Given the description of an element on the screen output the (x, y) to click on. 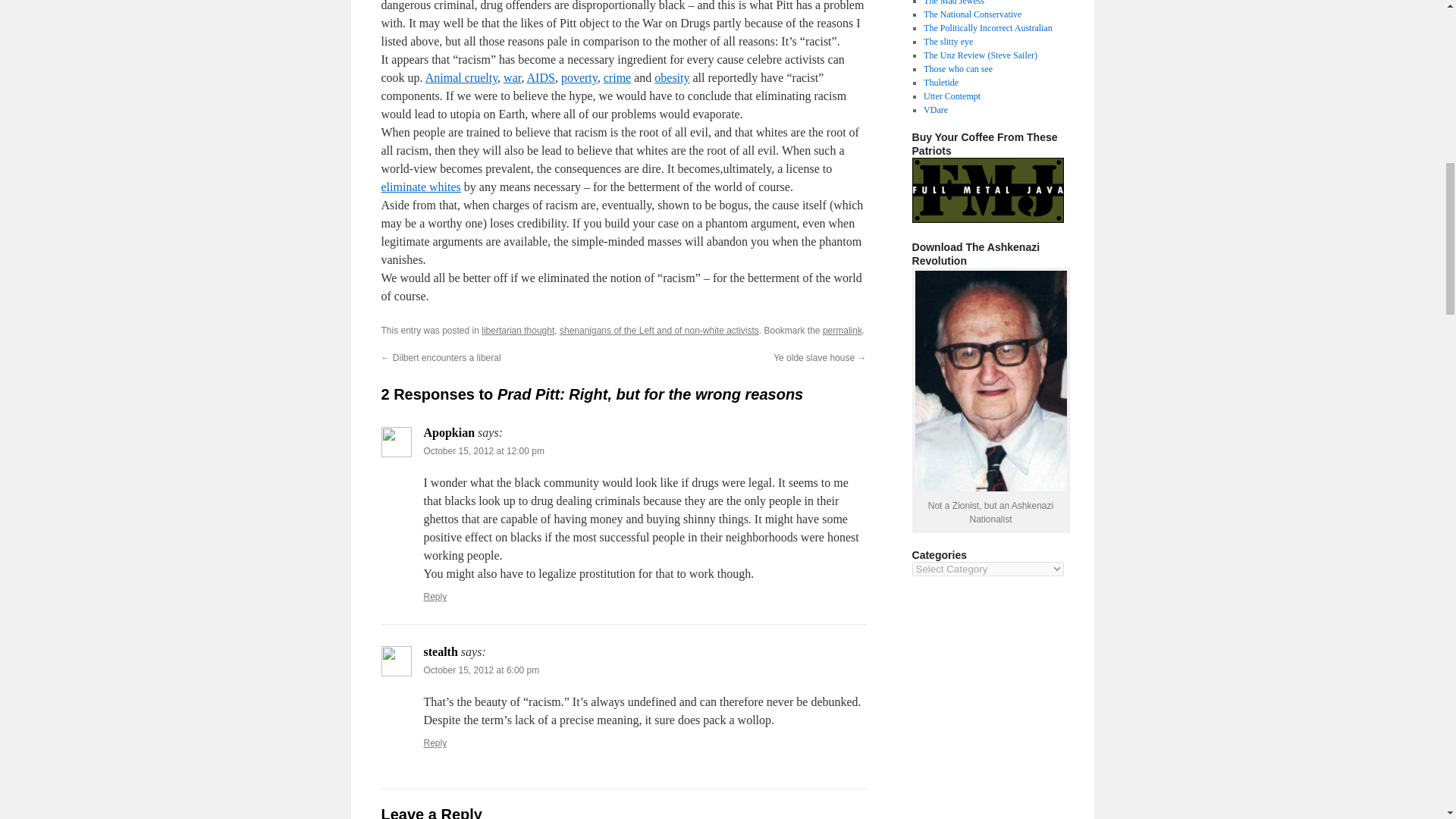
Reply (434, 596)
shenanigans of the Left and of non-white activists (658, 330)
libertarian thought (517, 330)
Reply (434, 742)
AIDS (540, 77)
Animal cruelty (461, 77)
poverty (578, 77)
obesity (670, 77)
October 15, 2012 at 6:00 pm (480, 670)
Permalink to Prad Pitt: Right, but for the wrong reasons (841, 330)
